Given the description of an element on the screen output the (x, y) to click on. 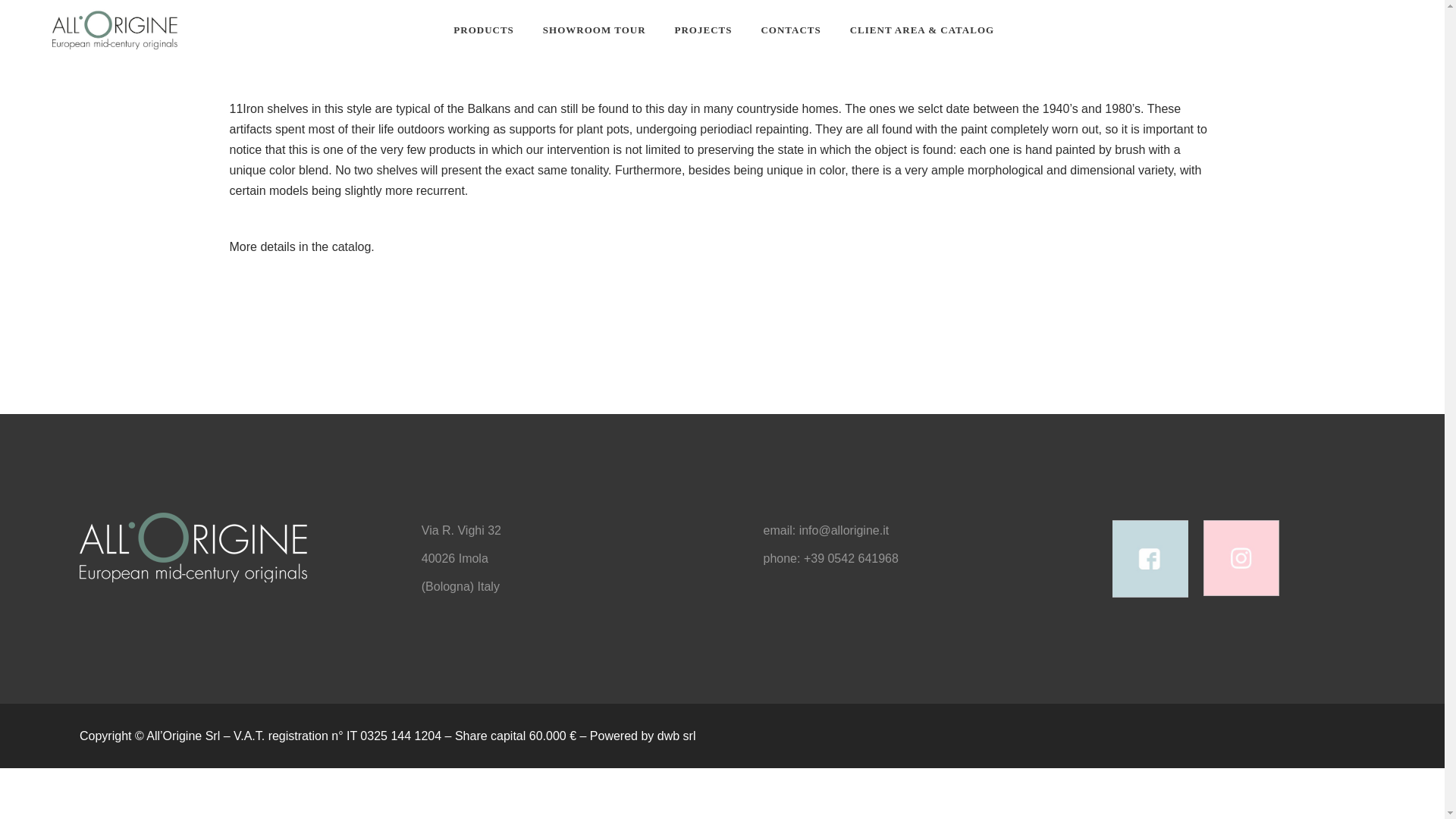
PROJECTS (703, 30)
dwb srl (676, 735)
CONTACTS (789, 30)
PRODUCTS (483, 30)
SHOWROOM TOUR (594, 30)
